Given the description of an element on the screen output the (x, y) to click on. 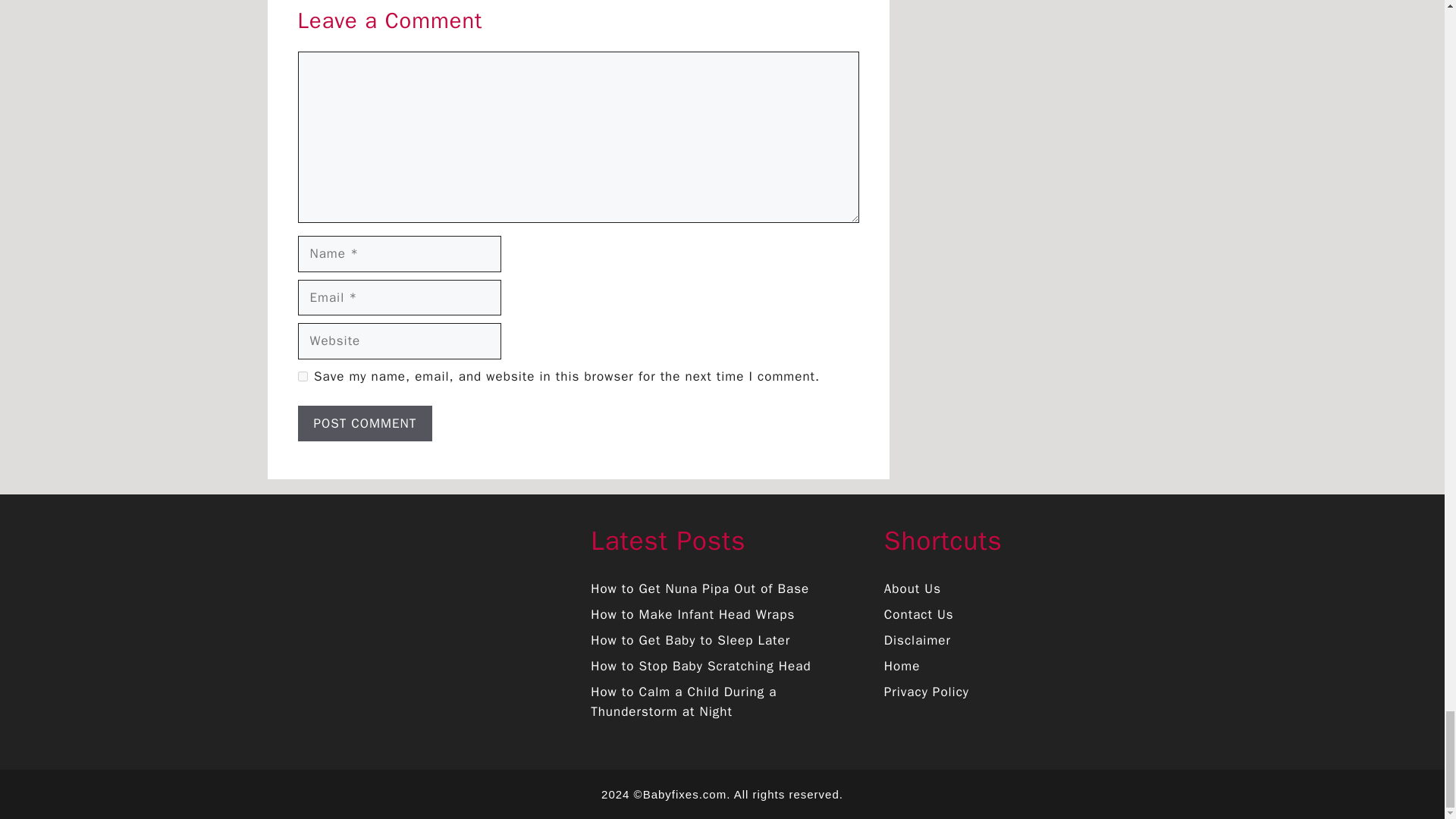
How to Get Nuna Pipa Out of Base (700, 588)
Post Comment (364, 423)
Contact Us (918, 614)
About Us (911, 588)
yes (302, 376)
Post Comment (364, 423)
Home (901, 666)
Disclaimer (916, 640)
Privacy Policy (926, 691)
How to Stop Baby Scratching Head (700, 666)
